Given the description of an element on the screen output the (x, y) to click on. 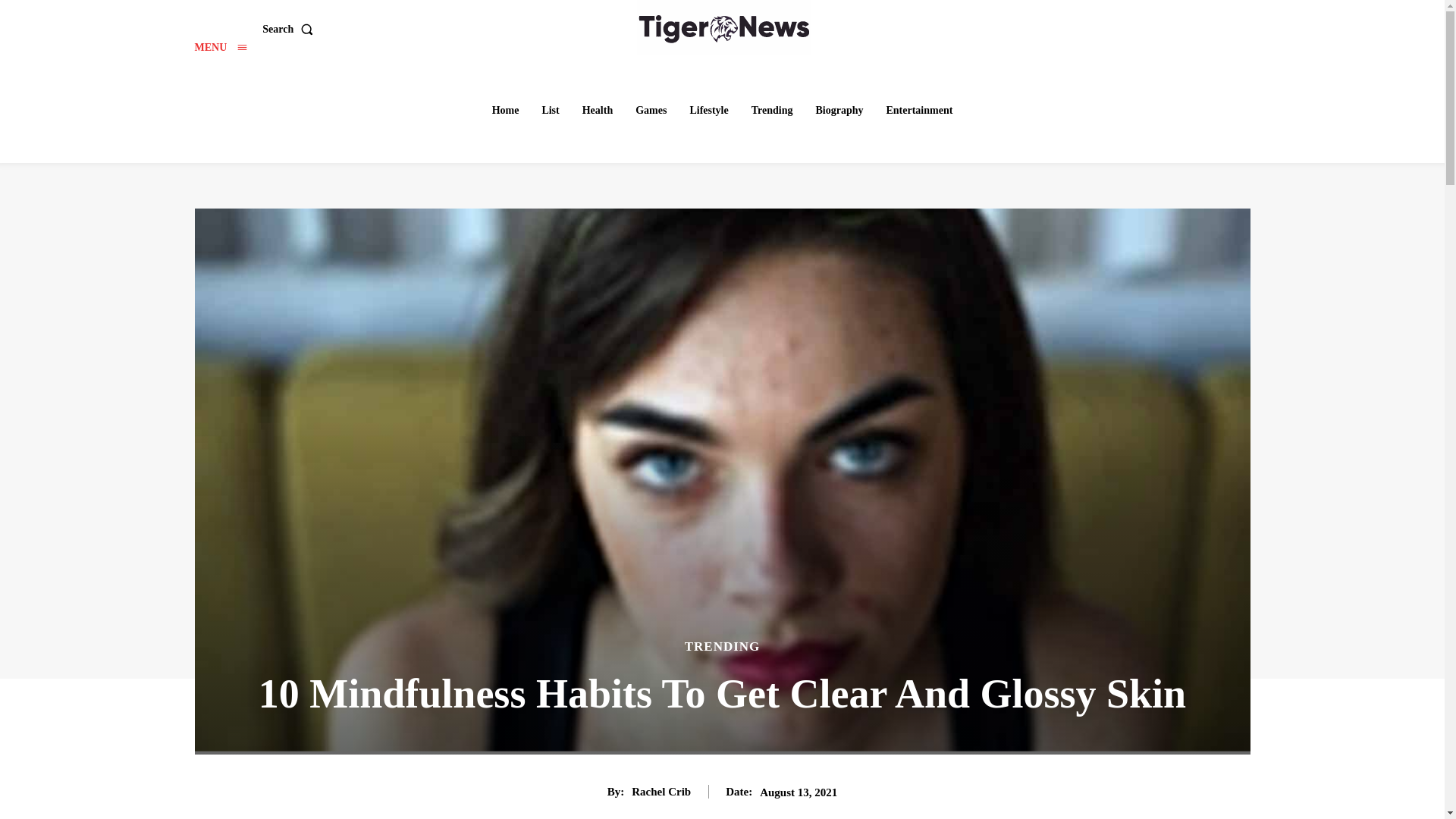
TRENDING (722, 645)
Biography (839, 110)
Home (505, 110)
List (550, 110)
MENU (220, 47)
Lifestyle (708, 110)
Games (650, 110)
Menu (220, 47)
Rachel Crib (660, 791)
Trending (772, 110)
Entertainment (918, 110)
Search (290, 29)
Health (597, 110)
